Given the description of an element on the screen output the (x, y) to click on. 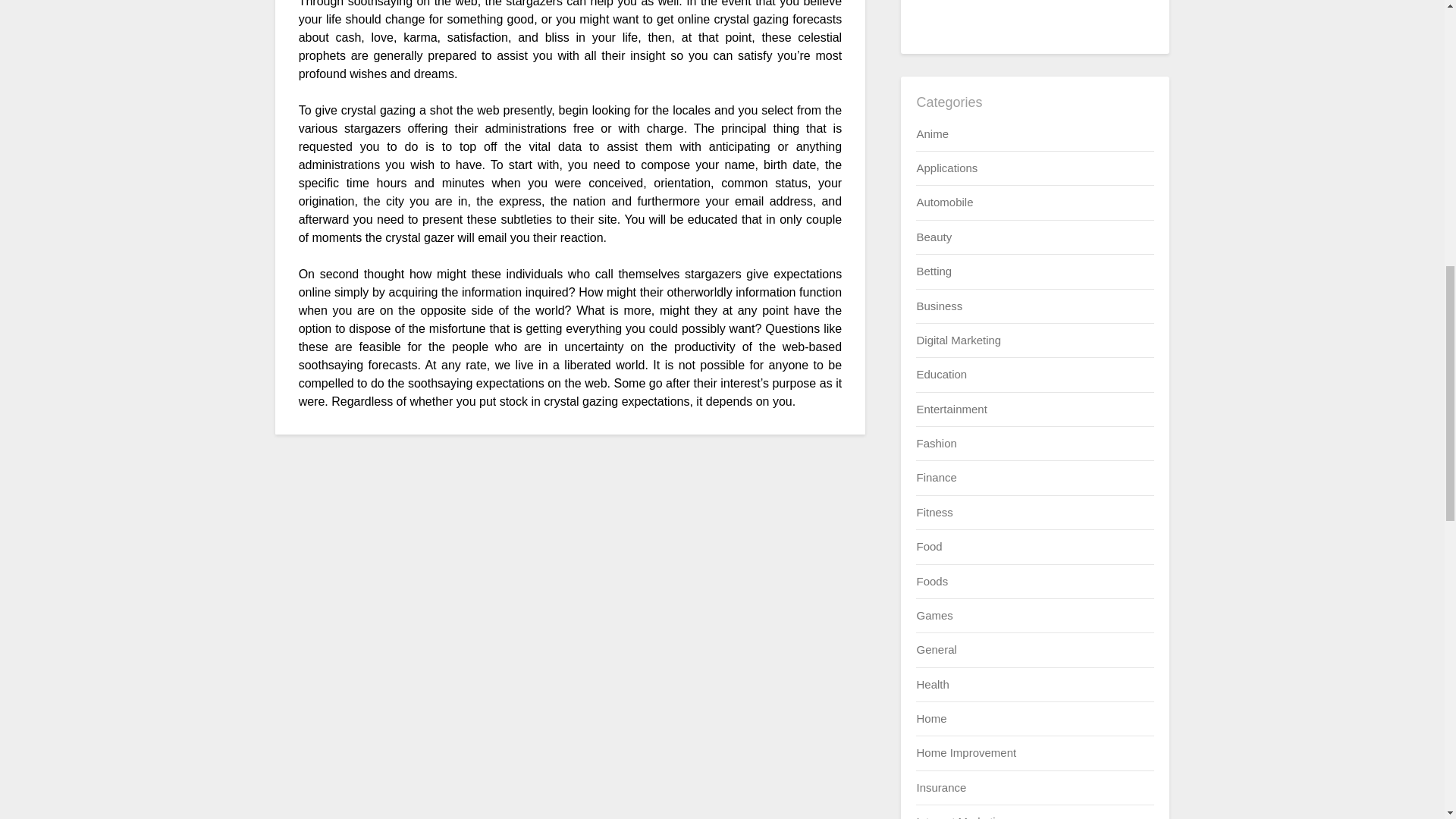
Finance (935, 477)
Home Improvement (965, 752)
General (935, 649)
Automobile (943, 201)
Games (933, 615)
Fashion (935, 442)
Food (928, 545)
Business (938, 305)
Digital Marketing (958, 339)
Internet Marketing (961, 816)
